Given the description of an element on the screen output the (x, y) to click on. 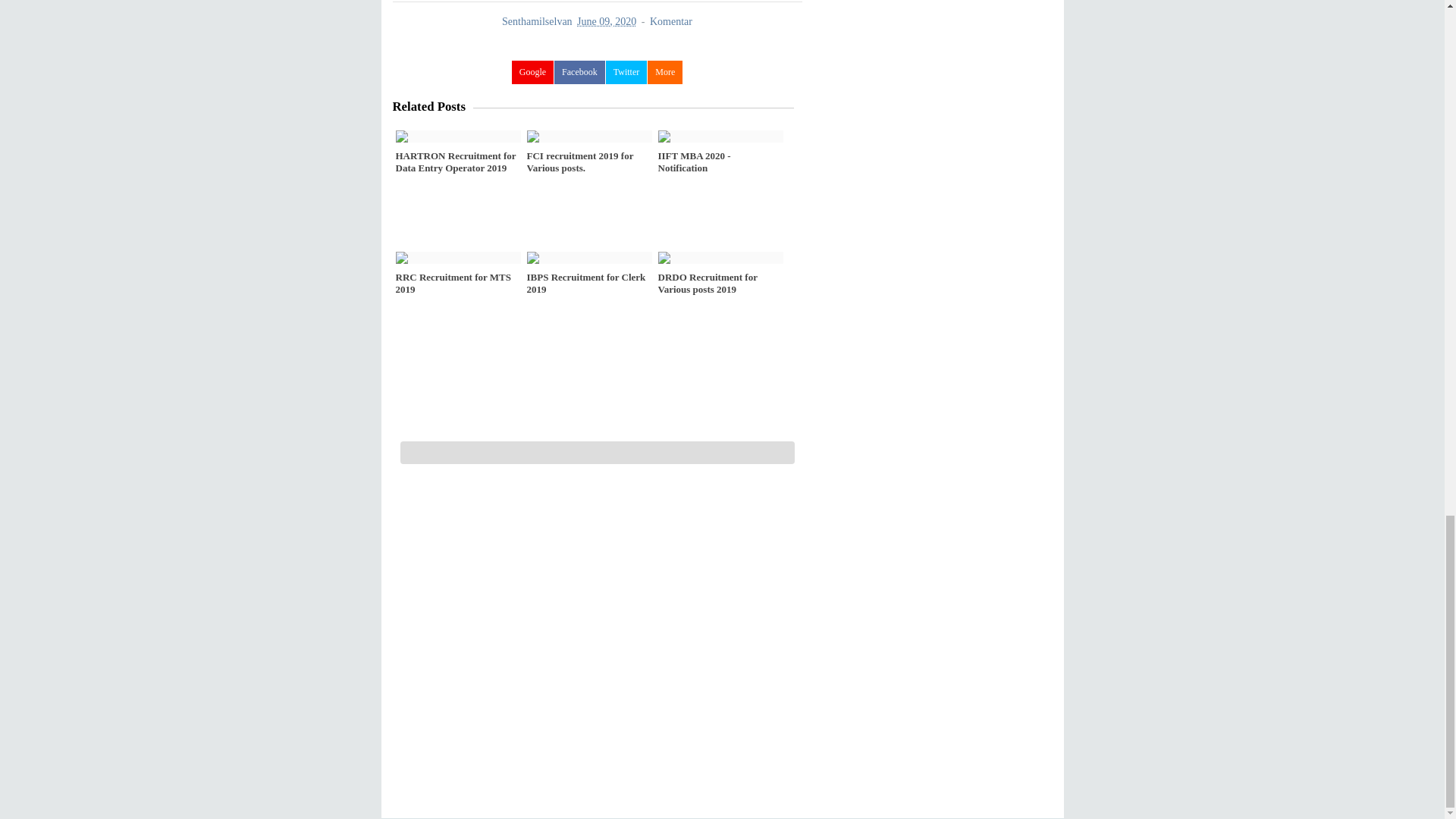
author profile (538, 21)
Google (532, 72)
Facebook (579, 72)
IBPS Recruitment for Clerk 2019 (587, 283)
HARTRON Recruitment for Data Entry Operator 2019 (458, 161)
IIFT MBA 2020 - Notification (720, 161)
Share to Facebook (579, 72)
Komentar (671, 21)
permanent link (606, 21)
June 09, 2020 (606, 21)
